Given the description of an element on the screen output the (x, y) to click on. 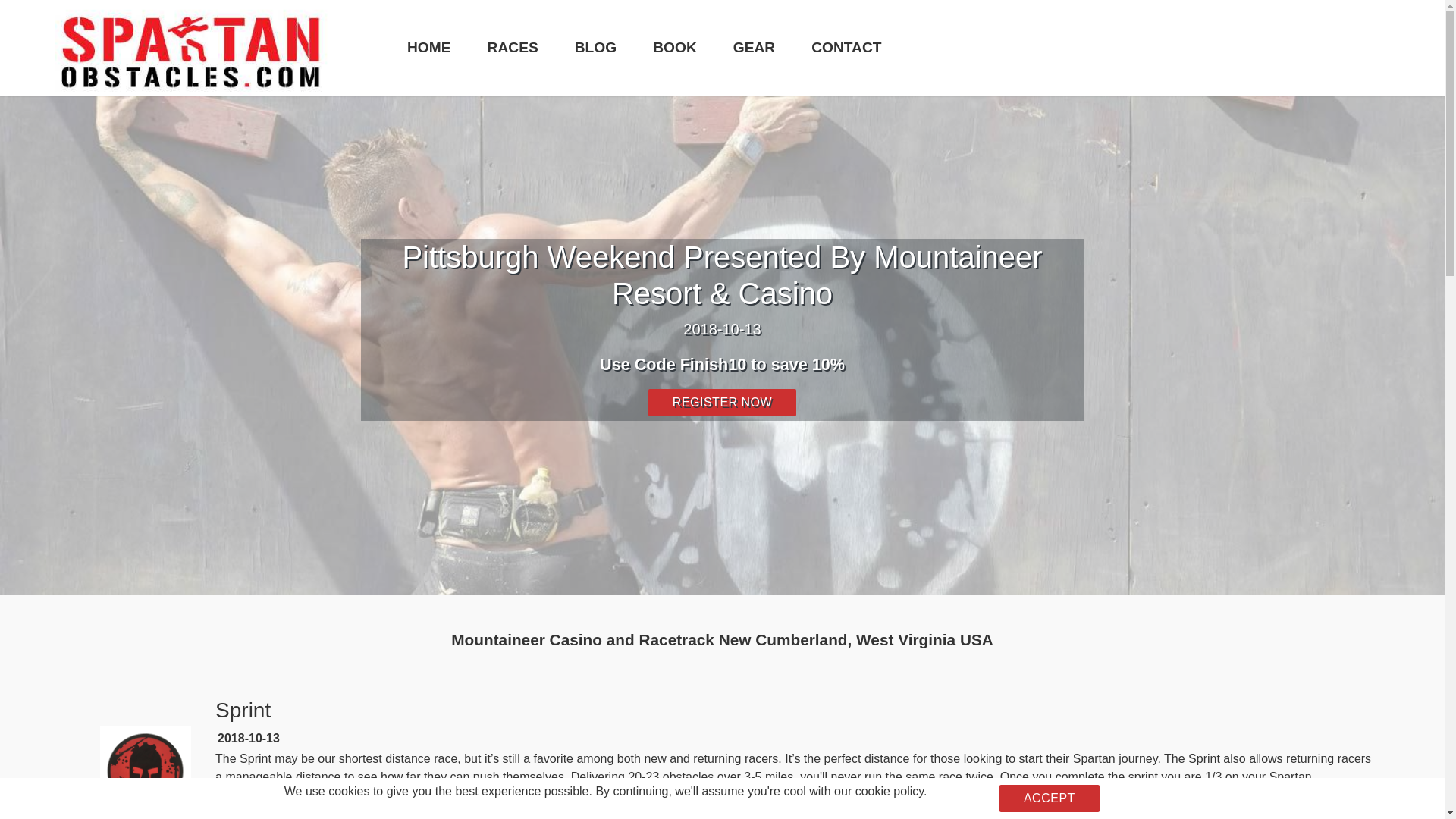
HOME (429, 47)
CONTACT (845, 47)
REGISTER NOW (288, 817)
BLOG (595, 47)
RACES (512, 47)
BOOK (674, 47)
GEAR (753, 47)
REGISTER NOW (721, 402)
